Given the description of an element on the screen output the (x, y) to click on. 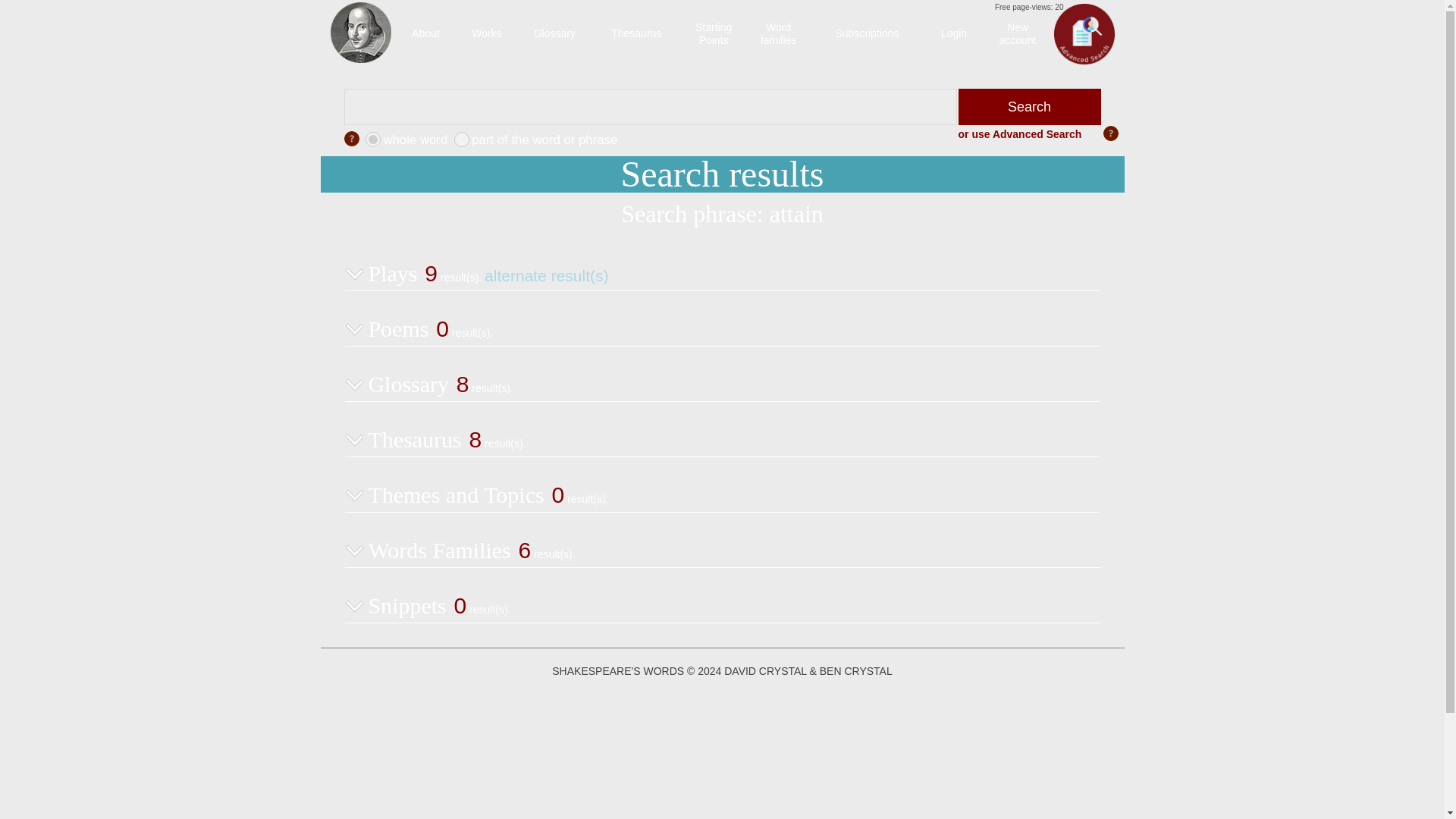
Works (485, 33)
Login (953, 33)
Glossary (713, 33)
RadioPartWord (778, 33)
RadioWholeWord (554, 33)
About (461, 139)
Thesaurus (372, 139)
Search (425, 33)
